Given the description of an element on the screen output the (x, y) to click on. 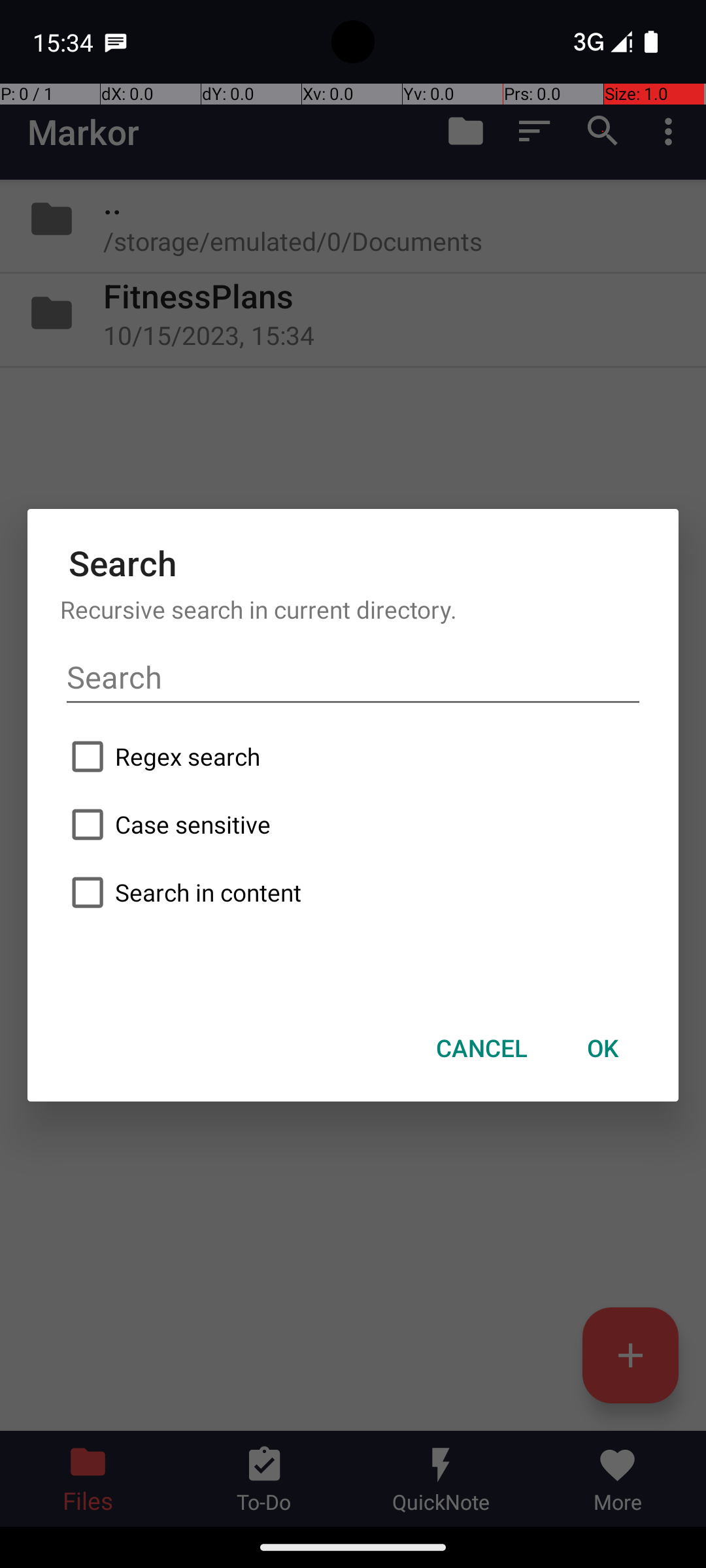
Recursive search in current directory. Element type: android.widget.TextView (352, 608)
Regex search Element type: android.widget.CheckBox (352, 756)
Case sensitive Element type: android.widget.CheckBox (352, 824)
Search in content Element type: android.widget.CheckBox (352, 892)
